Given the description of an element on the screen output the (x, y) to click on. 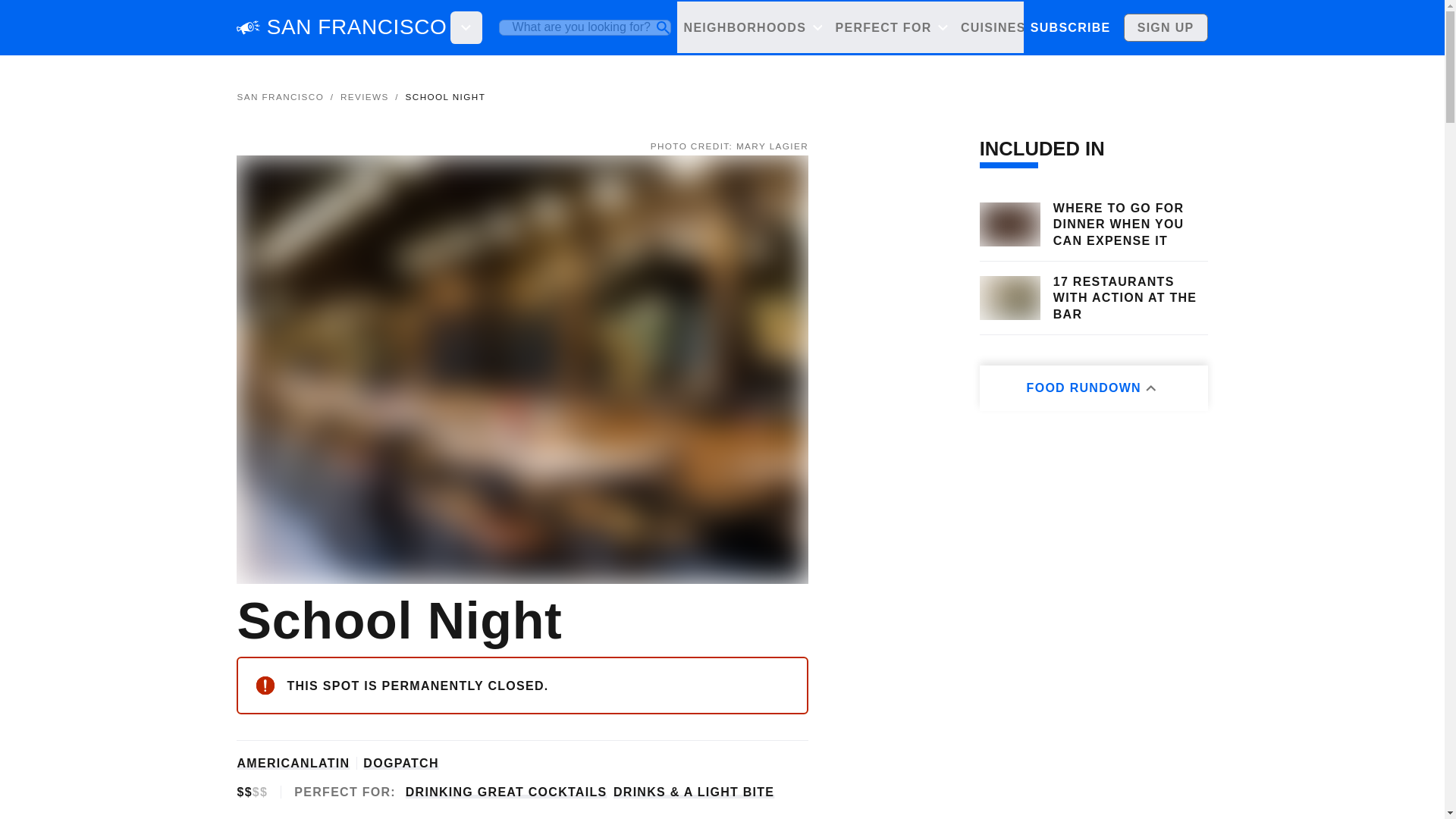
AMERICAN (271, 763)
CUISINES (1000, 27)
WHERE TO GO FOR DINNER WHEN YOU CAN EXPENSE IT (1130, 223)
SIGN UP (1166, 27)
SUBSCRIBE (1069, 27)
SAN FRANCISCO (279, 96)
LATIN (329, 763)
DRINKING GREAT COCKTAILS (506, 791)
17 RESTAURANTS WITH ACTION AT THE BAR (1130, 297)
DOGPATCH (400, 763)
What are you looking for? (585, 27)
GUIDES (1080, 27)
REVIEWS (1151, 27)
PERFECT FOR (890, 27)
REVIEWS (364, 96)
